Given the description of an element on the screen output the (x, y) to click on. 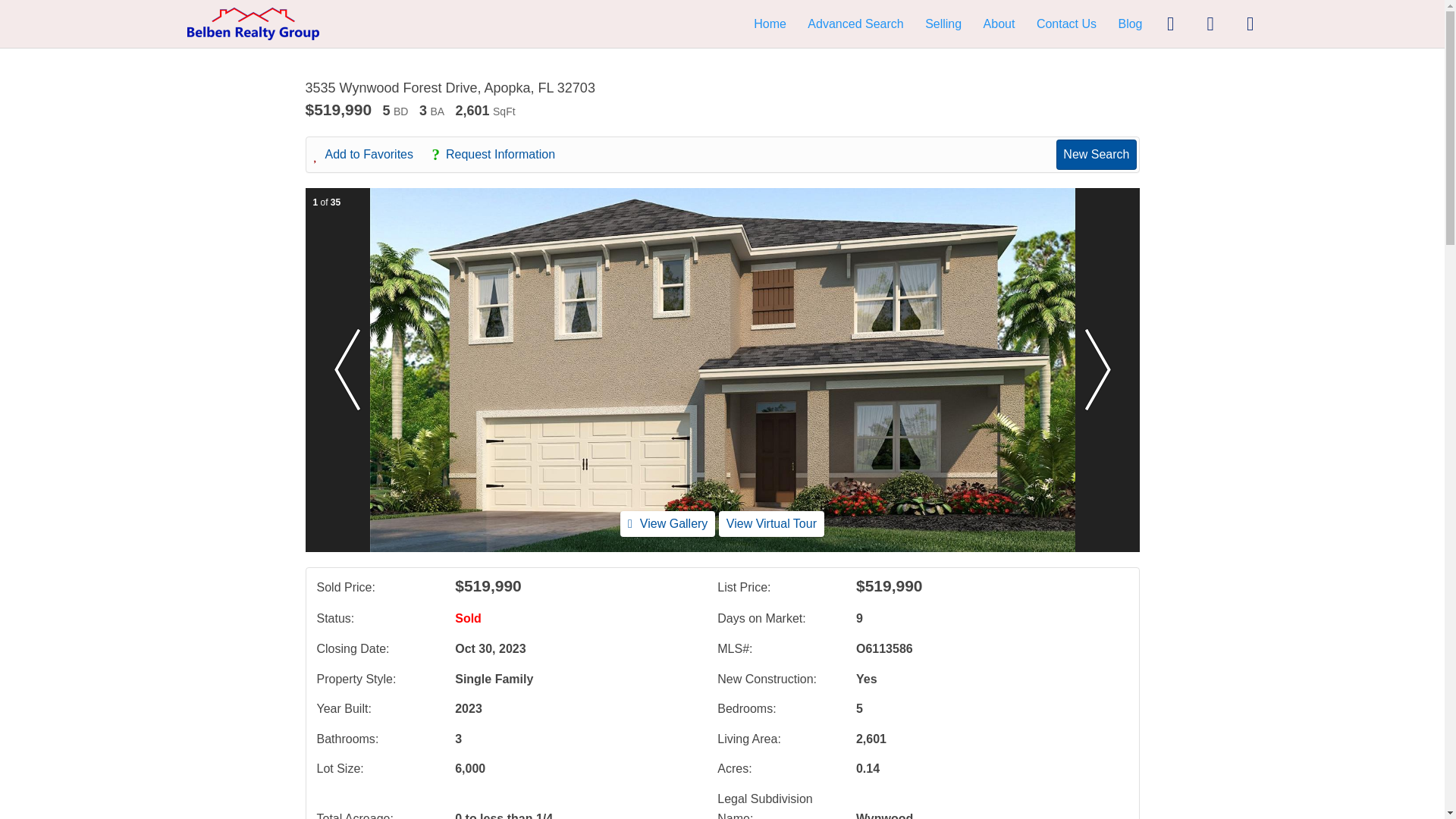
Selling (942, 23)
New Search (1096, 154)
View Virtual Tour (771, 522)
Advanced Search (855, 23)
Contact Us (1066, 23)
View Virtual Tour (771, 524)
View Gallery (667, 522)
About (999, 23)
Request Information (500, 154)
Home (770, 23)
Add to Favorites (371, 154)
View Gallery (667, 524)
Blog (1129, 23)
